Given the description of an element on the screen output the (x, y) to click on. 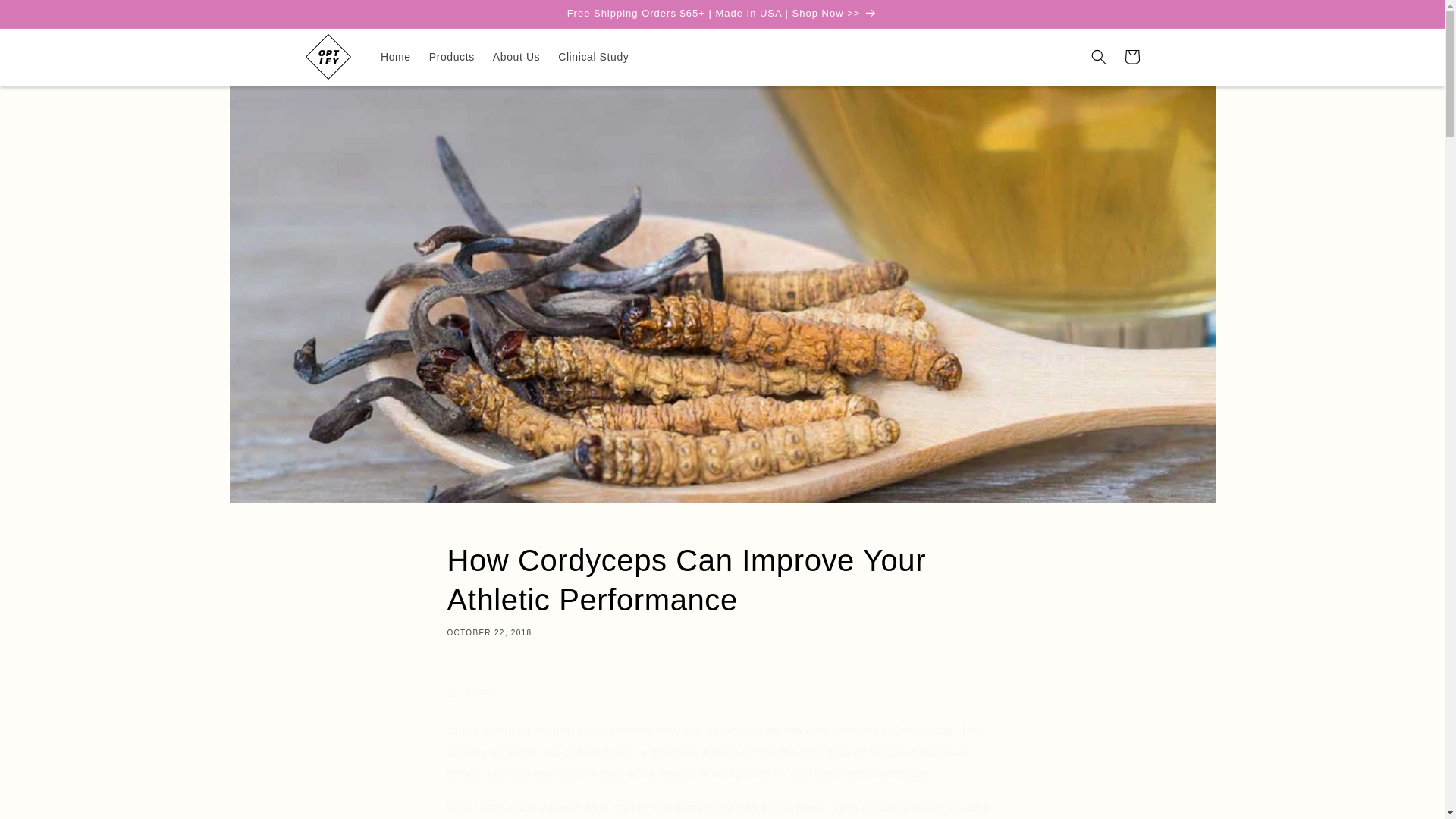
Cart (1131, 56)
About Us (515, 56)
Clinical Study (592, 56)
Products (451, 56)
Skip to content (45, 17)
Home (395, 56)
Share (721, 692)
